Given the description of an element on the screen output the (x, y) to click on. 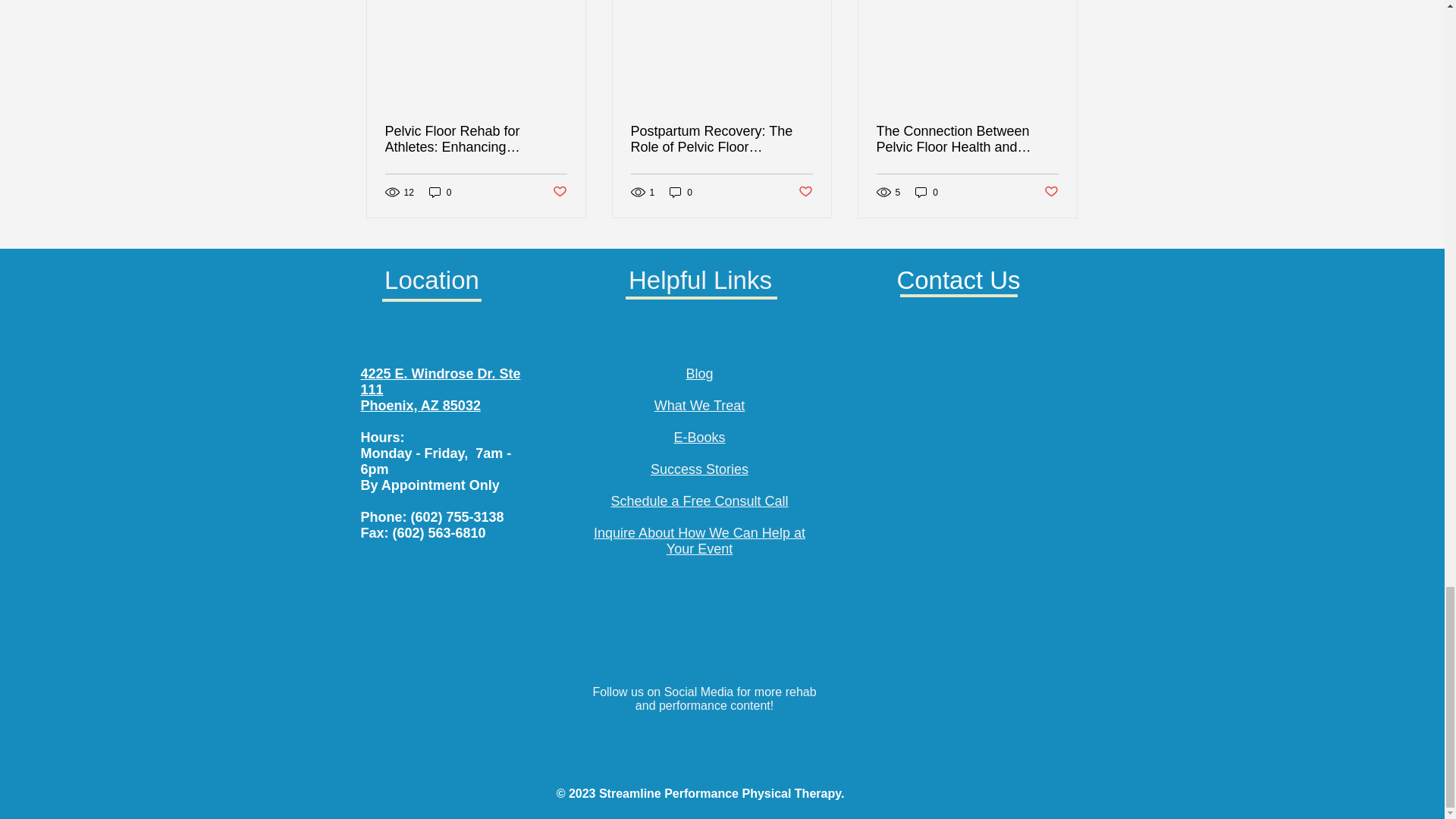
Post not marked as liked (1050, 191)
0 (440, 192)
4225 E. Windrose Dr. Ste 111 (441, 381)
0 (926, 192)
Post not marked as liked (804, 191)
0 (681, 192)
Post not marked as liked (558, 191)
Postpartum Recovery: The Role of Pelvic Floor Rehabilitation (721, 139)
